Given the description of an element on the screen output the (x, y) to click on. 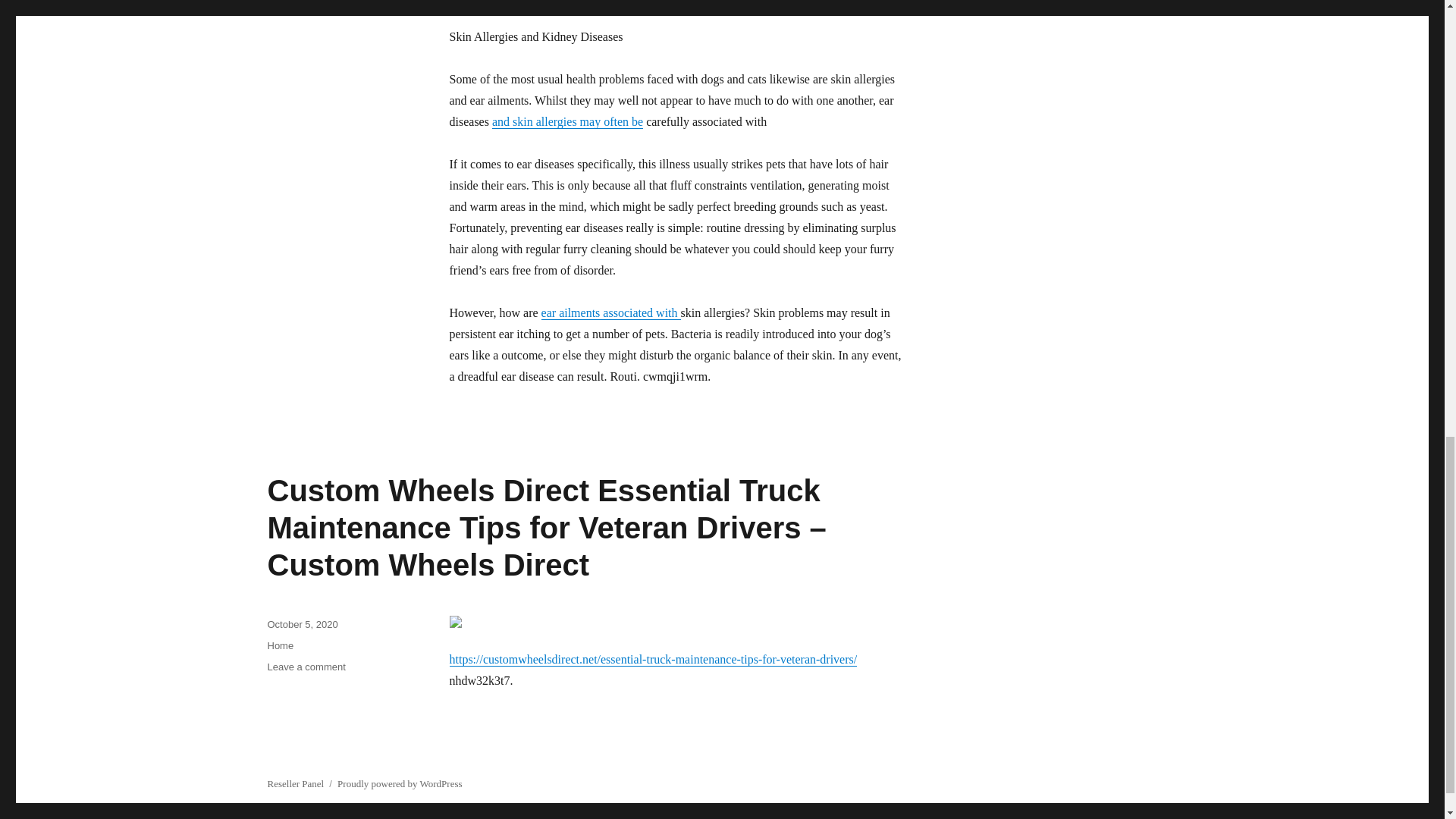
Home (280, 645)
October 5, 2020 (301, 624)
ear ailments associated with (611, 312)
and skin allergies may often be (567, 121)
